Given the description of an element on the screen output the (x, y) to click on. 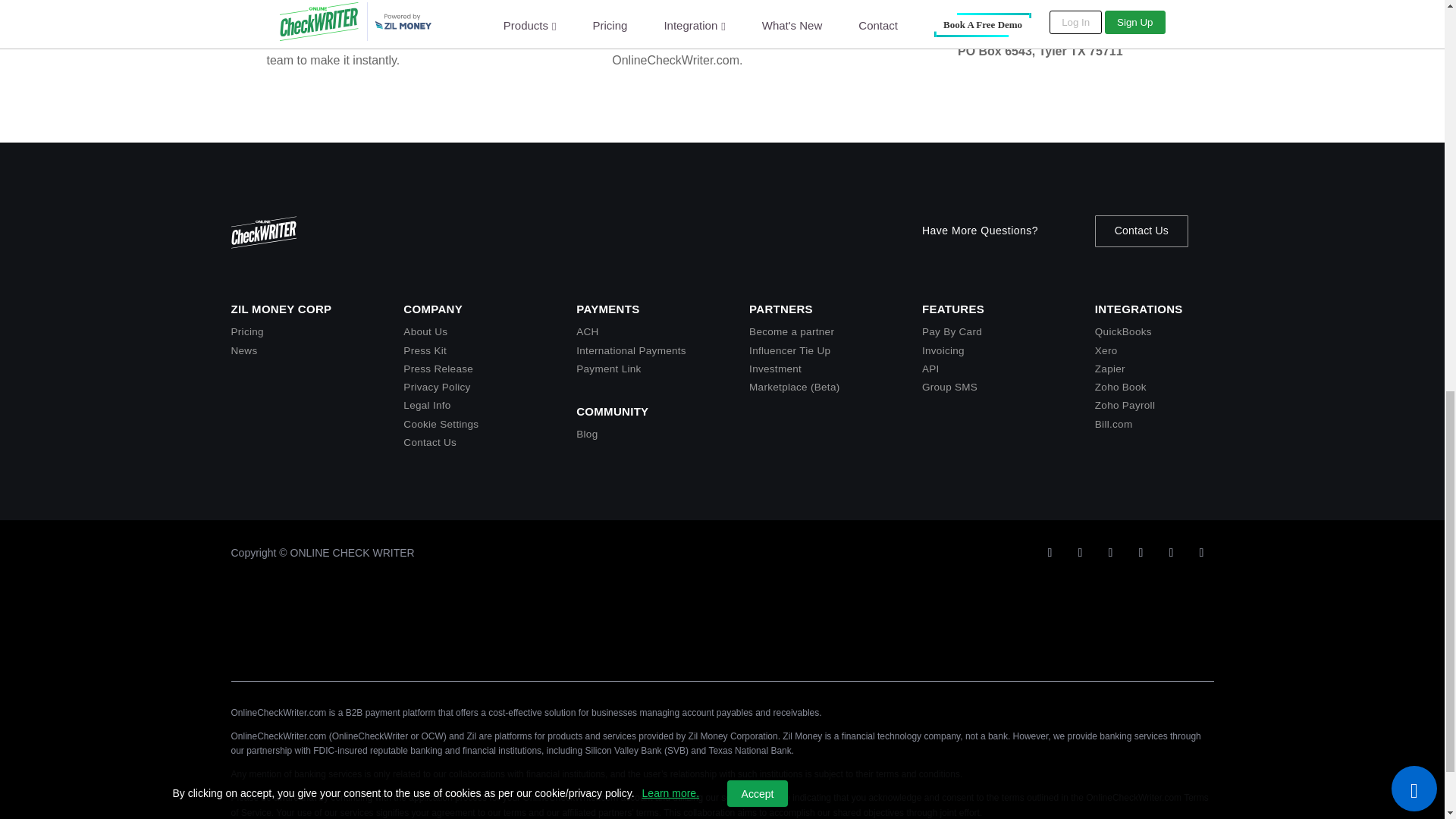
Follow on LinkedIn (1109, 552)
Follow on Pinterest (1200, 552)
Follow on Youtube (1079, 552)
Follow on Facebook (1170, 552)
Follow on X (1048, 552)
Follow on Instagram (1140, 552)
